Given the description of an element on the screen output the (x, y) to click on. 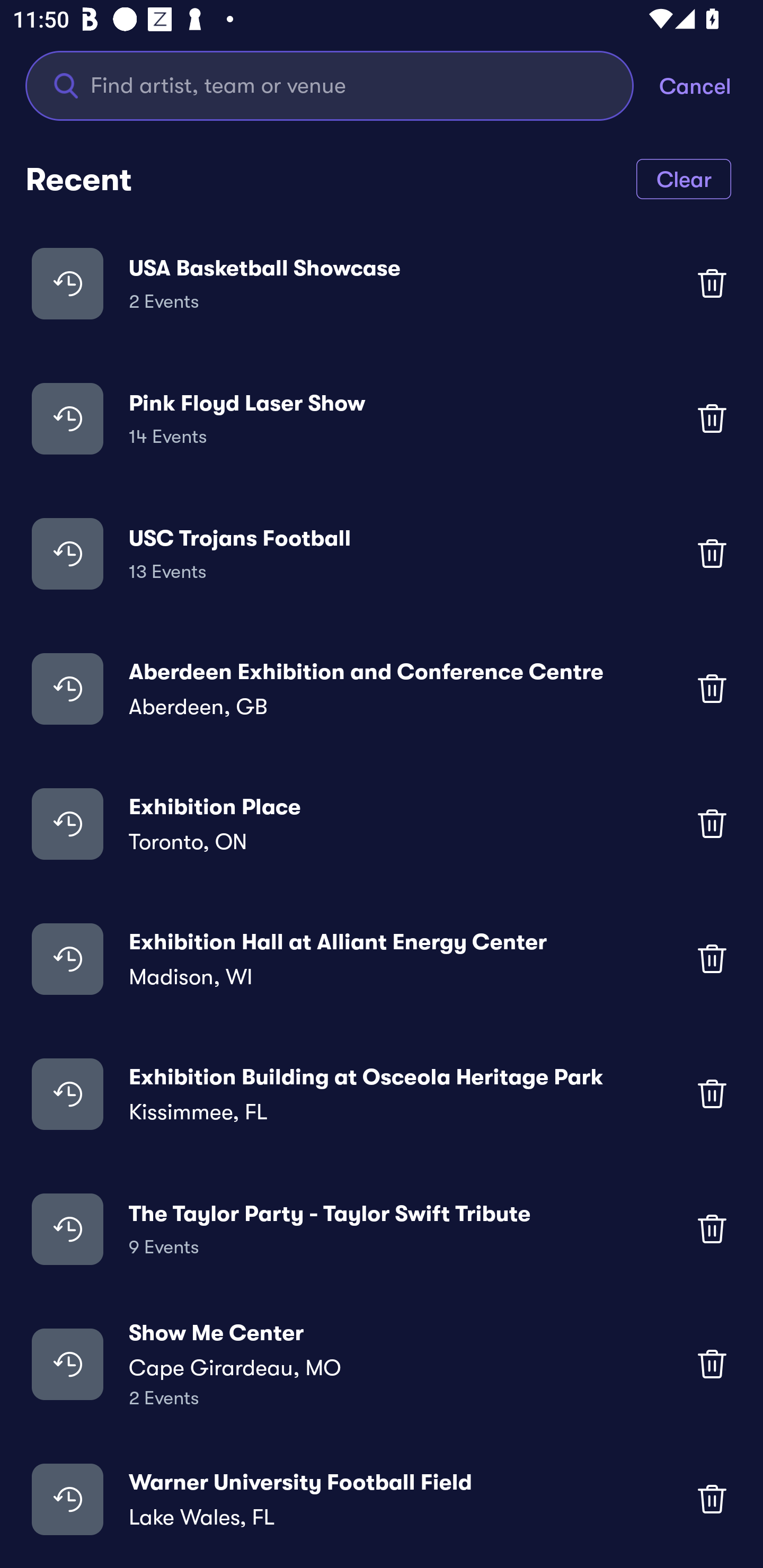
Cancel (711, 85)
Find artist, team or venue Find (329, 85)
Find artist, team or venue Find (341, 85)
Clear (683, 178)
USA Basketball Showcase 2 Events (381, 282)
Pink Floyd Laser Show 14 Events (381, 417)
USC Trojans Football 13 Events (381, 553)
Exhibition Place Toronto, ON (381, 823)
The Taylor Party - Taylor Swift Tribute 9 Events (381, 1228)
Show Me Center Cape Girardeau, MO 2 Events (381, 1364)
Warner University Football Field Lake Wales, FL (381, 1498)
